Given the description of an element on the screen output the (x, y) to click on. 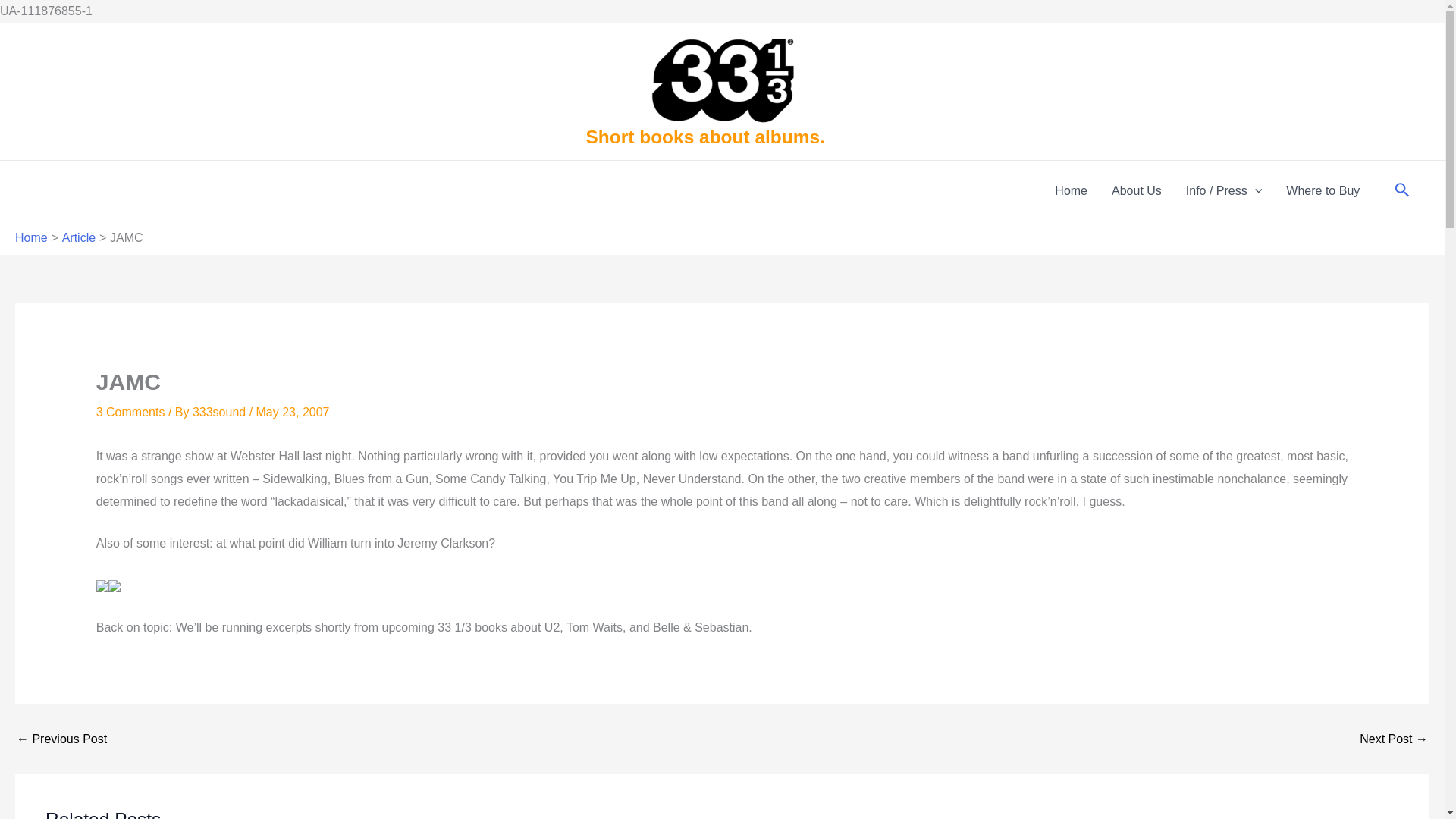
3 Comments (130, 411)
Home (31, 237)
Bee Thousand Party, NYC, June (61, 739)
Short books about albums. (704, 136)
Home (1070, 190)
Article (79, 237)
Achtung Baby (1393, 739)
About Us (1136, 190)
View all posts by 333sound (220, 411)
Where to Buy (1322, 190)
